Given the description of an element on the screen output the (x, y) to click on. 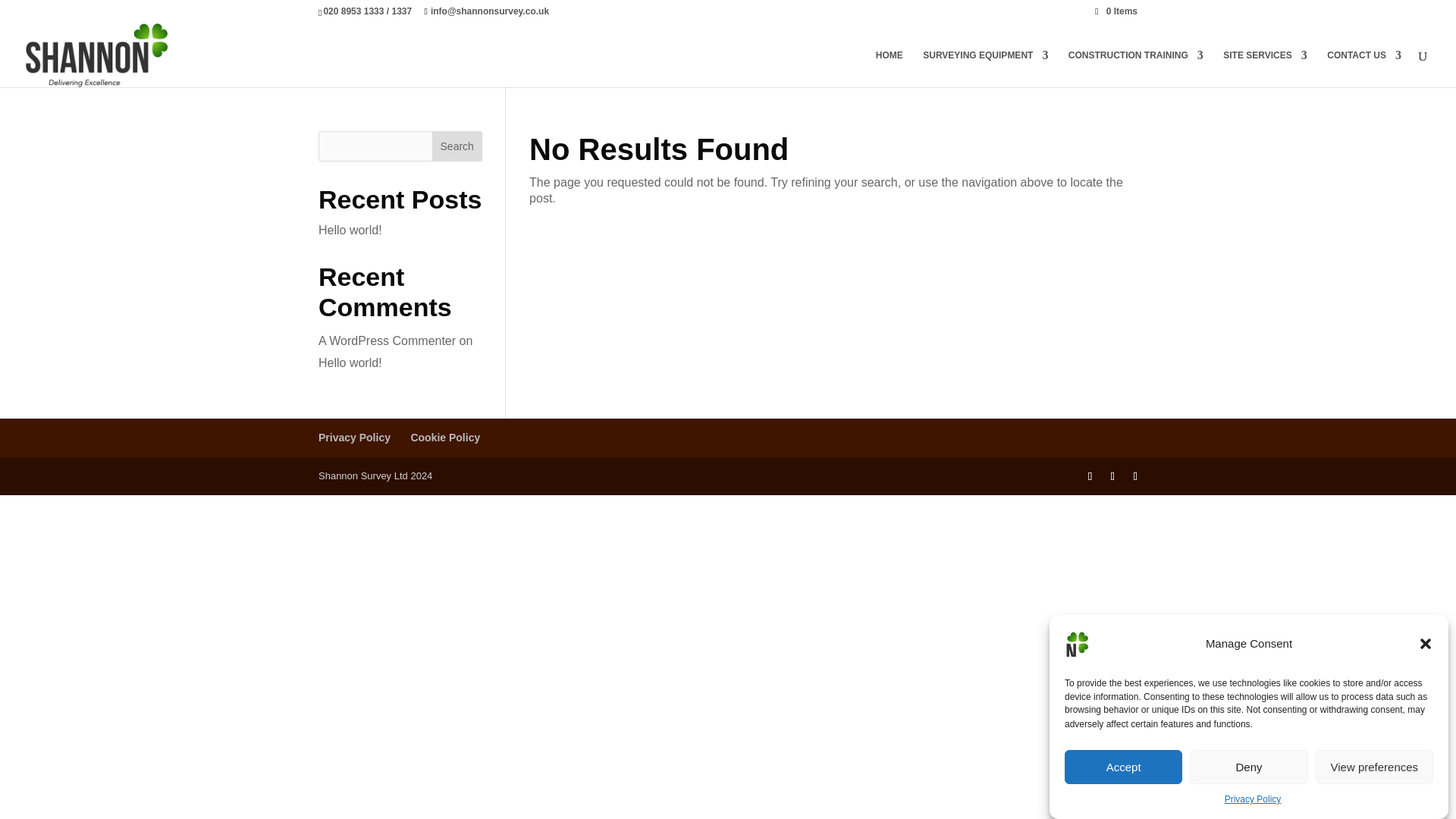
CONSTRUCTION TRAINING (1136, 67)
CONTACT US (1363, 67)
SITE SERVICES (1264, 67)
0 Items (1115, 10)
Search (456, 146)
SURVEYING EQUIPMENT (985, 67)
